Given the description of an element on the screen output the (x, y) to click on. 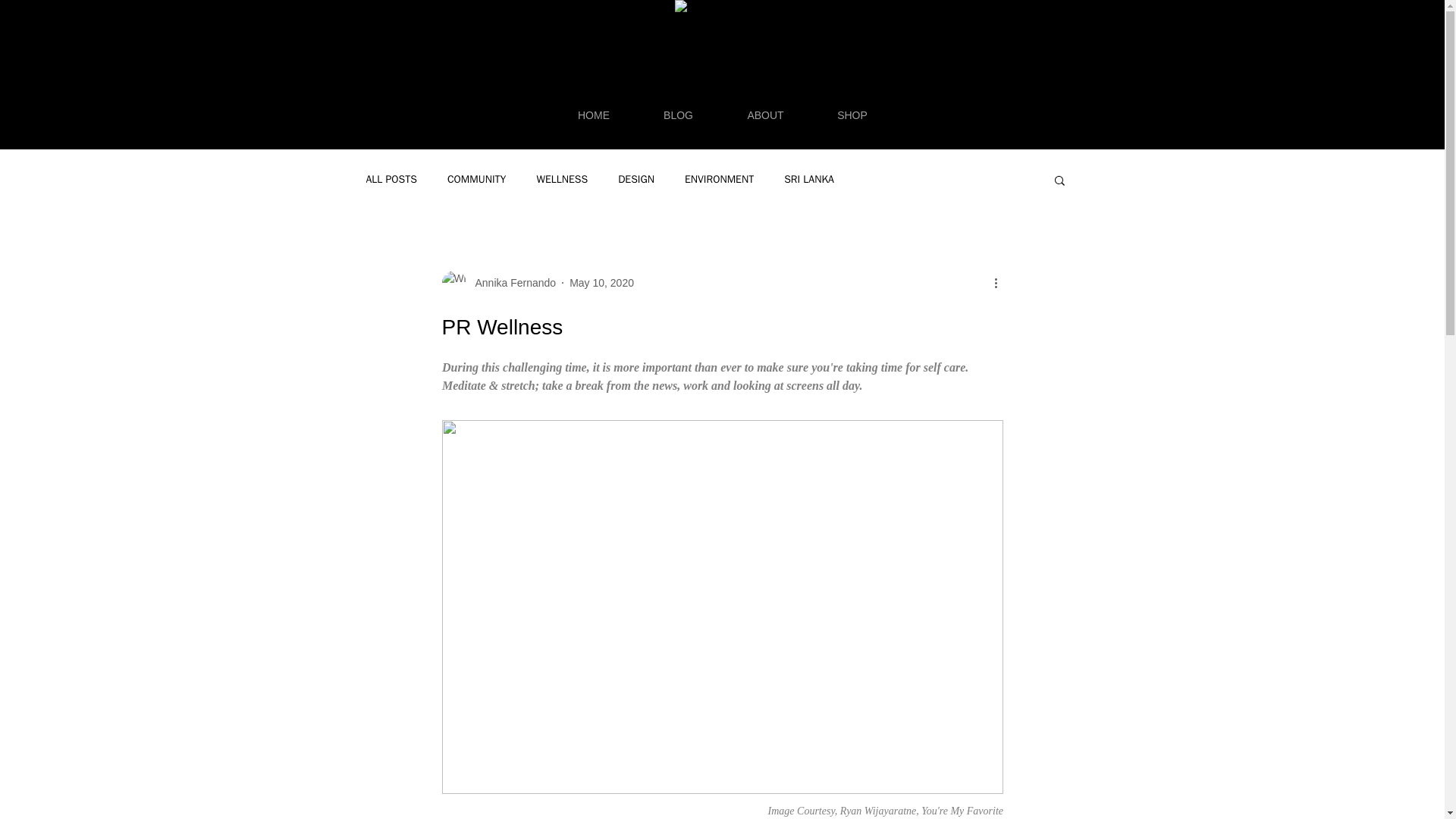
Annika Fernando (510, 282)
DESIGN (635, 179)
ABOUT (765, 115)
HOME (593, 115)
COMMUNITY (476, 179)
ENVIRONMENT (719, 179)
WELLNESS (561, 179)
ALL POSTS (390, 179)
SHOP (851, 115)
SRI LANKA (809, 179)
